Given the description of an element on the screen output the (x, y) to click on. 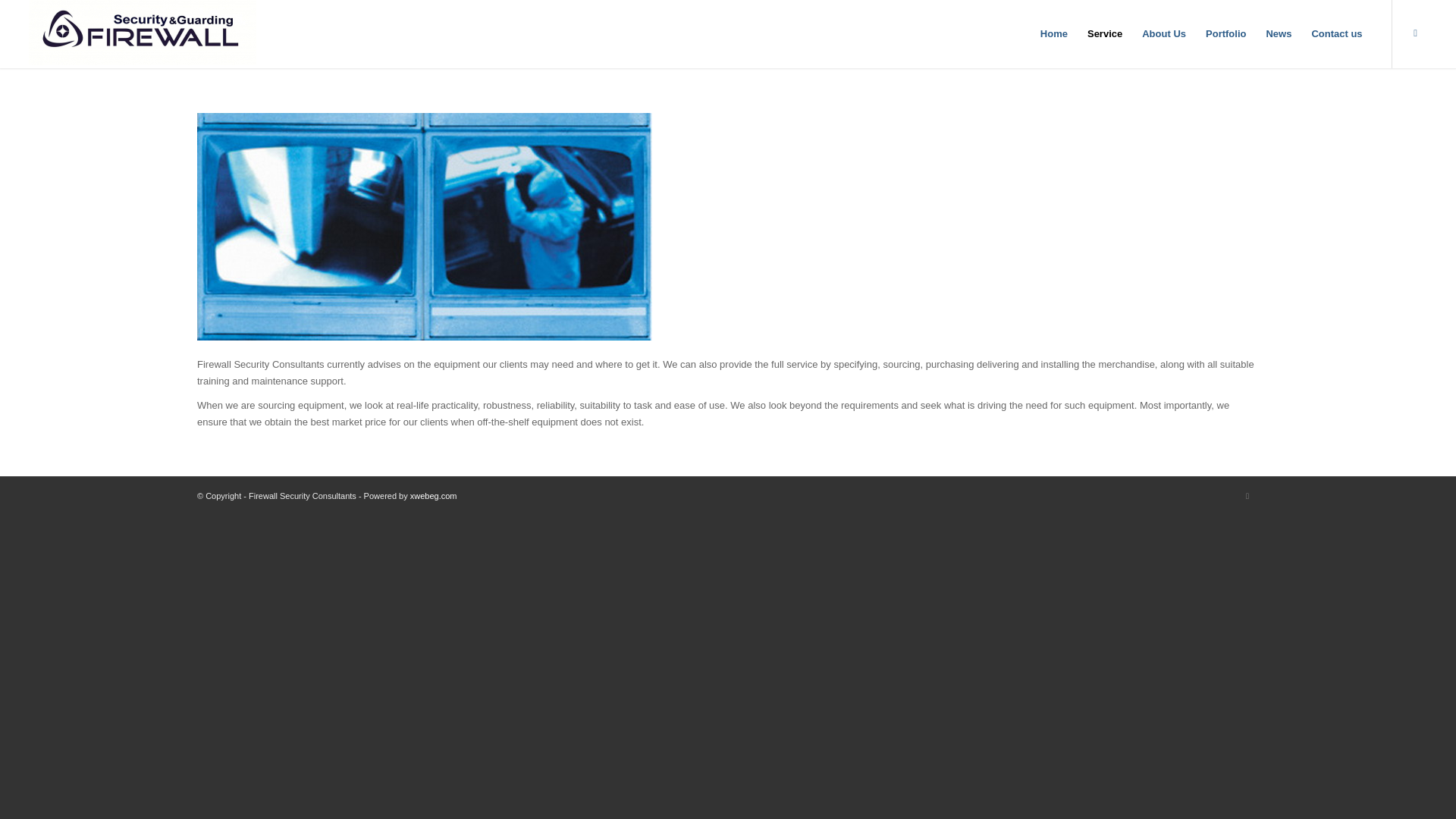
About Us (1163, 33)
Facebook (1247, 495)
Facebook (1415, 33)
Technical Systems and Equipment (424, 226)
Contact us (1336, 33)
xwebeg.com (433, 495)
